Given the description of an element on the screen output the (x, y) to click on. 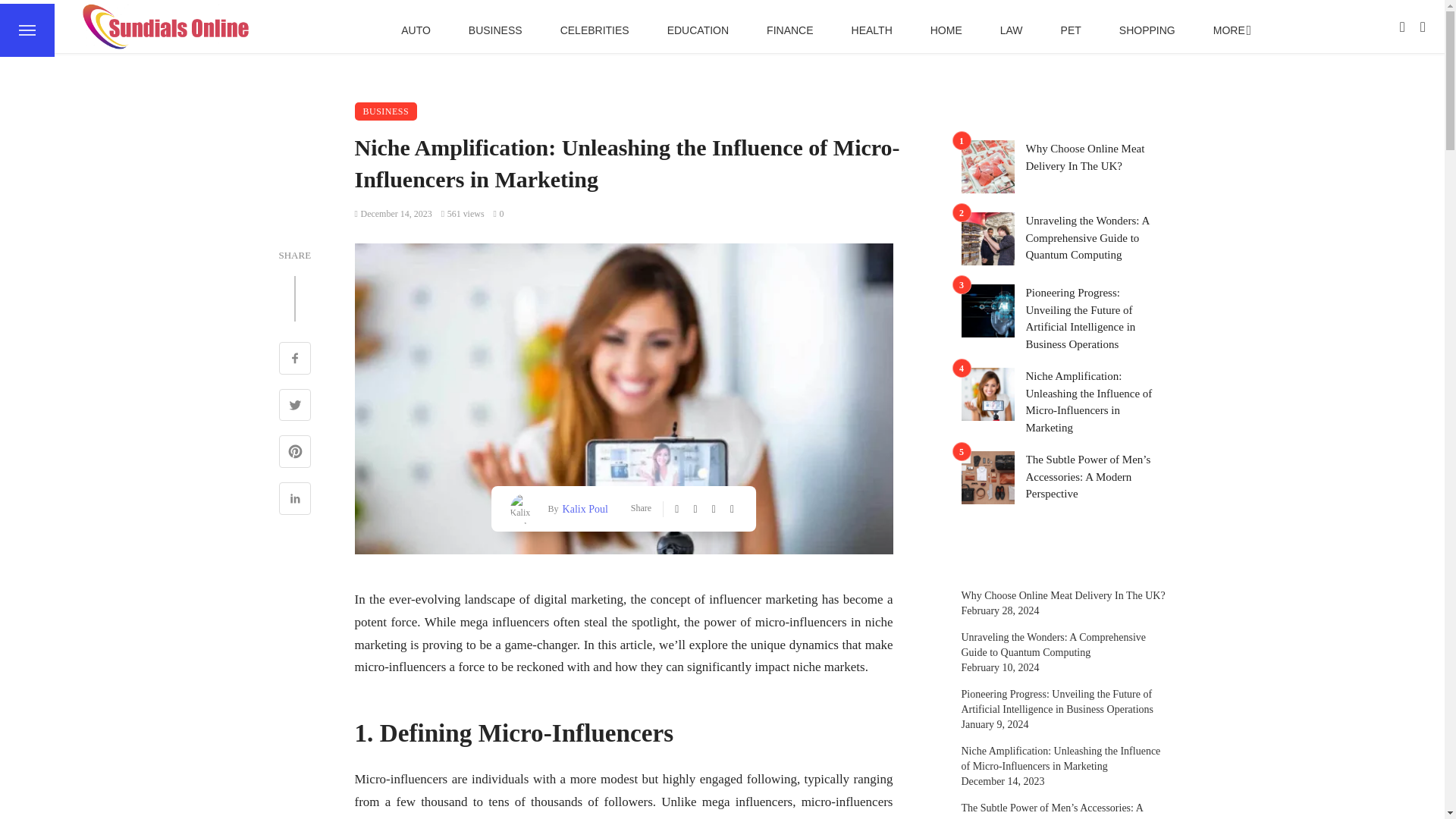
December 14, 2023 at 4:46 am (393, 213)
SHOPPING (1146, 30)
HOME (946, 30)
Share on Linkedin (295, 500)
0 (498, 213)
0 Comments (498, 213)
Share on Pinterest (295, 452)
LAW (1011, 30)
Share on Twitter (295, 407)
Posts by Kalix Poul (583, 508)
CELEBRITIES (594, 30)
BUSINESS (495, 30)
PET (1071, 30)
BUSINESS (386, 111)
MORE (1229, 30)
